Given the description of an element on the screen output the (x, y) to click on. 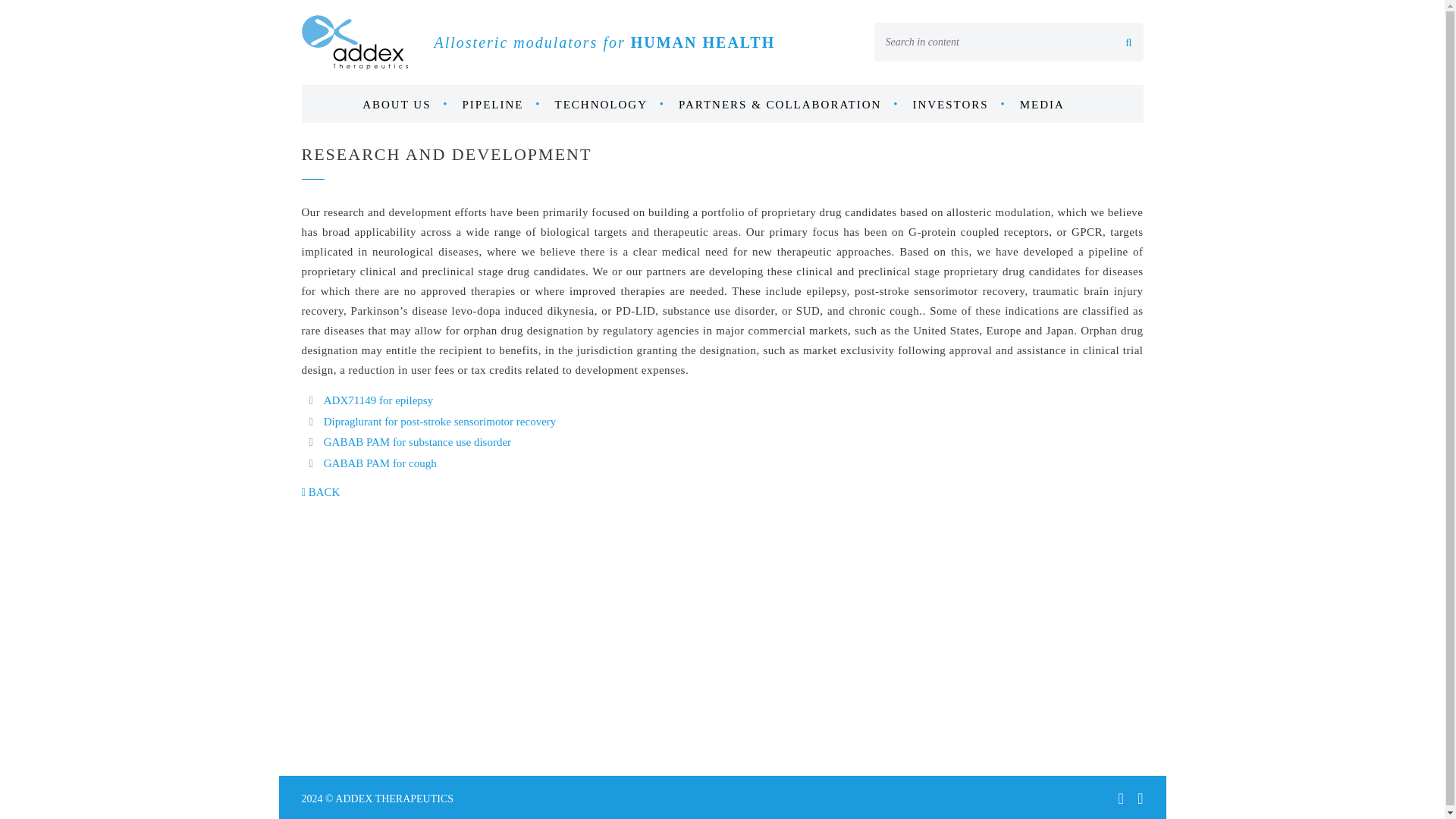
PIPELINE (502, 104)
ABOUT US (405, 104)
Dipraglurant for post-stroke sensorimotor recovery (439, 421)
GABAB PAM for substance use disorder (417, 441)
ADX71149 for epilepsy (377, 399)
GABAB PAM for cough (379, 463)
TECHNOLOGY (609, 104)
MEDIA (1050, 104)
BACK (320, 491)
INVESTORS (959, 104)
